Given the description of an element on the screen output the (x, y) to click on. 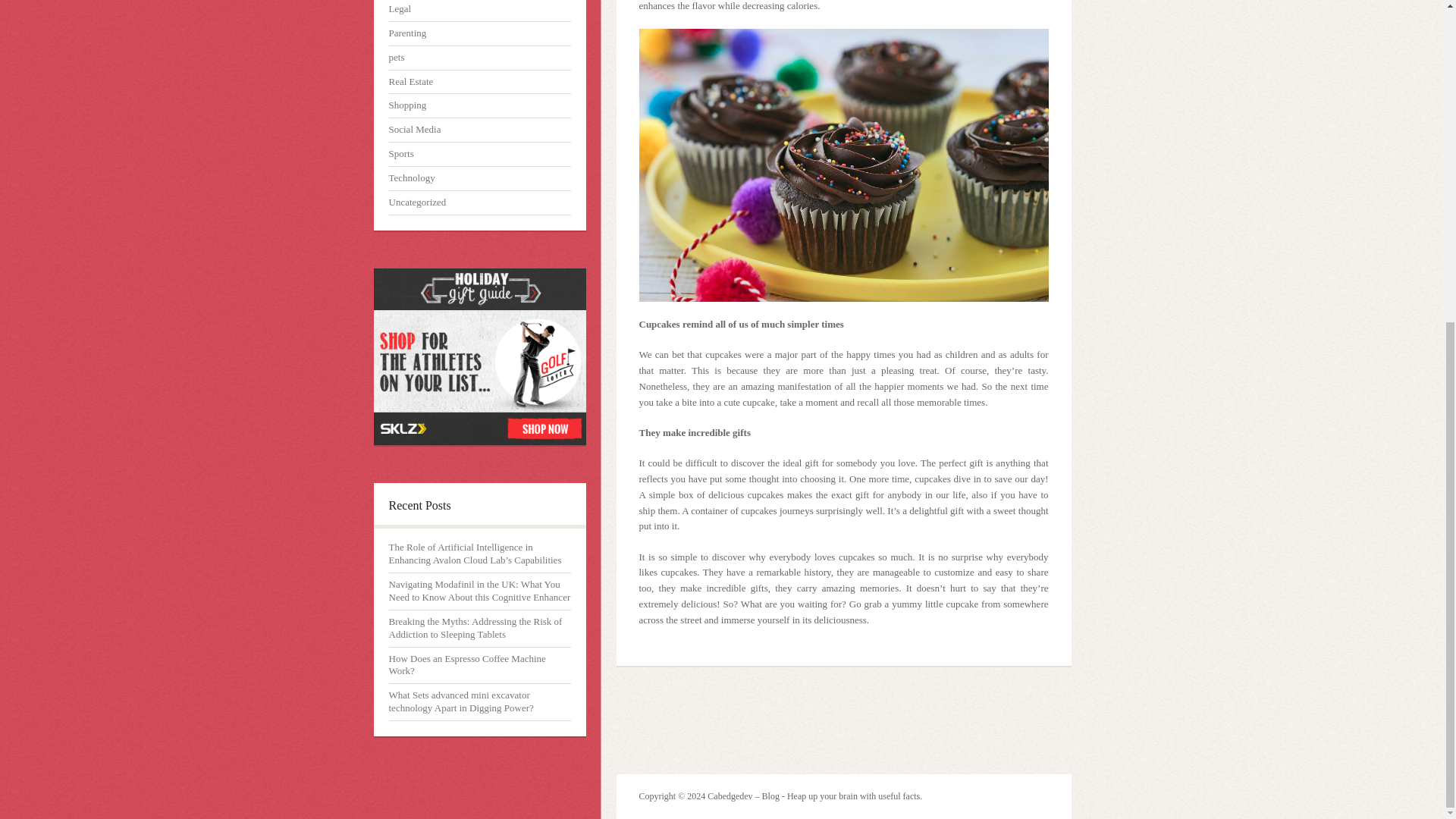
Shopping (407, 104)
Social Media (414, 129)
Real Estate (410, 81)
Technology (410, 177)
Sports (400, 153)
Parenting (407, 32)
Legal (399, 8)
How Does an Espresso Coffee Machine Work? (466, 664)
Uncategorized (416, 202)
pets (396, 57)
